Given the description of an element on the screen output the (x, y) to click on. 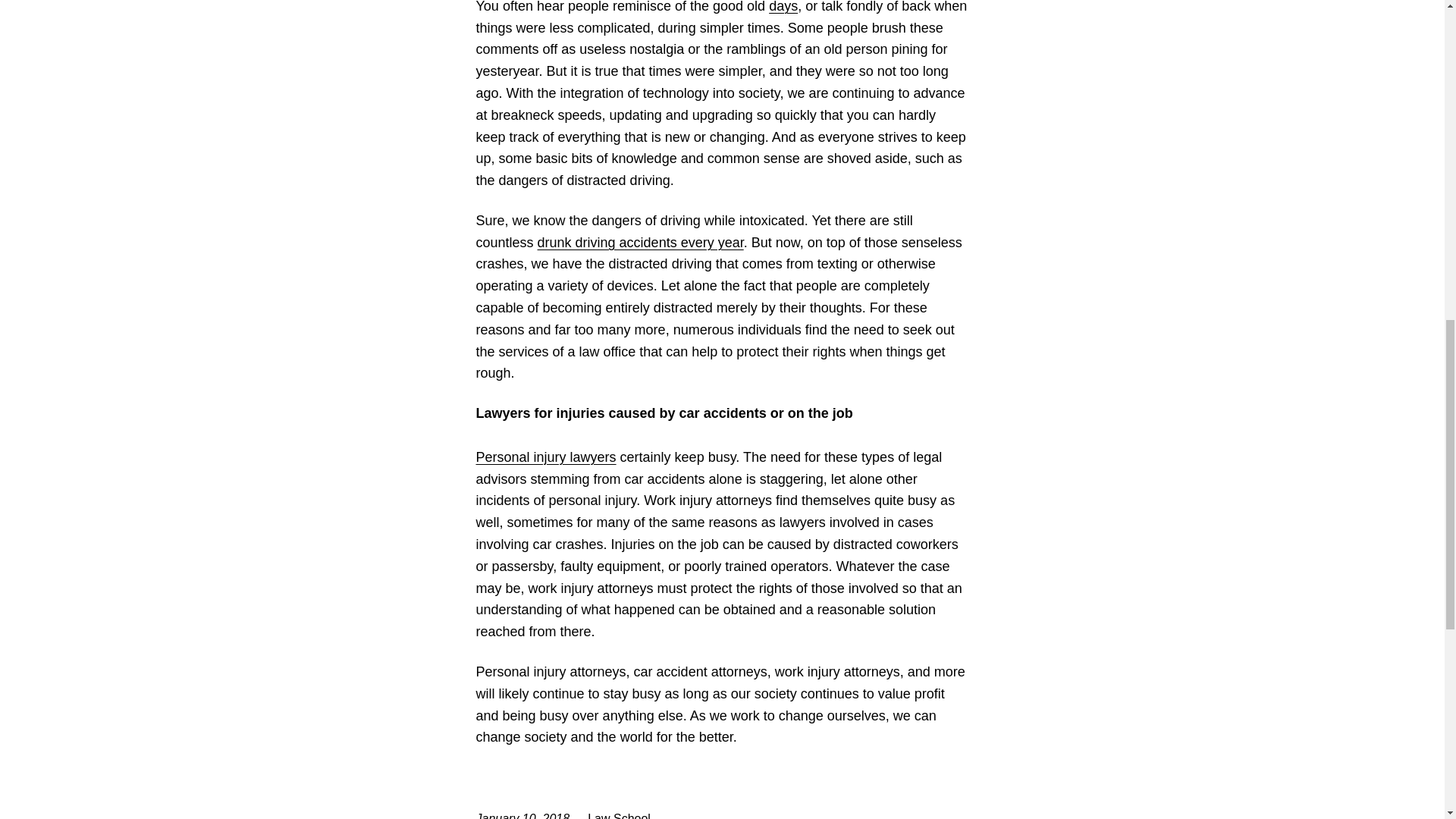
Car accident injury huntington wv (640, 242)
days (782, 6)
Personal injury lawyers (545, 467)
drunk driving accidents every year (640, 242)
Something similar (545, 467)
Truck accident attorney huntington wv, Mesothelioma lawyers (782, 6)
